Given the description of an element on the screen output the (x, y) to click on. 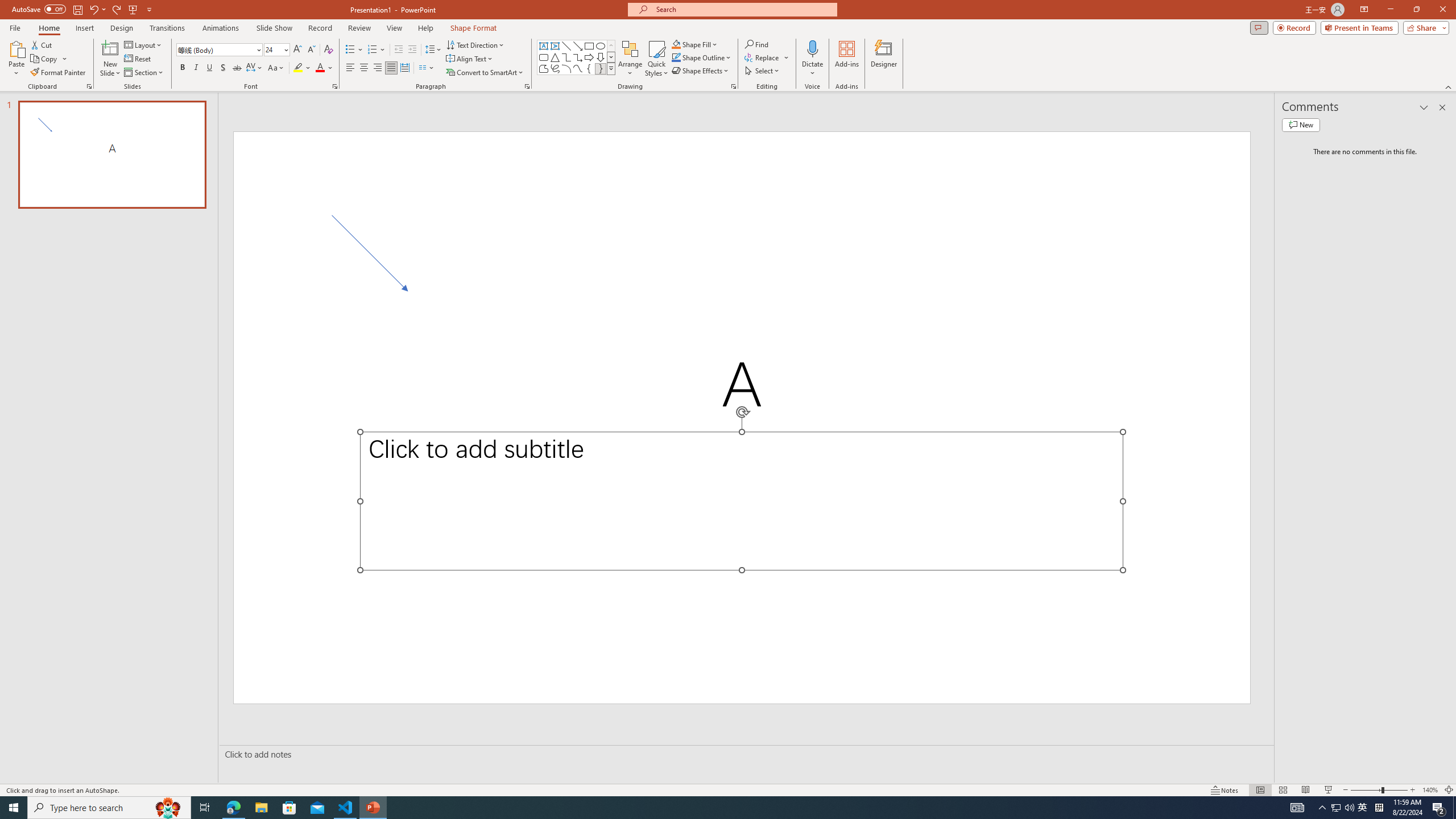
Quick Styles (656, 58)
Reset (138, 58)
Left Brace (589, 68)
Increase Indent (412, 49)
Font... (334, 85)
Cut (42, 44)
Paragraph... (526, 85)
AutomationID: ShapesInsertGallery (576, 57)
Shape Fill Orange, Accent 2 (675, 44)
Line Spacing (433, 49)
Line (566, 45)
